Given the description of an element on the screen output the (x, y) to click on. 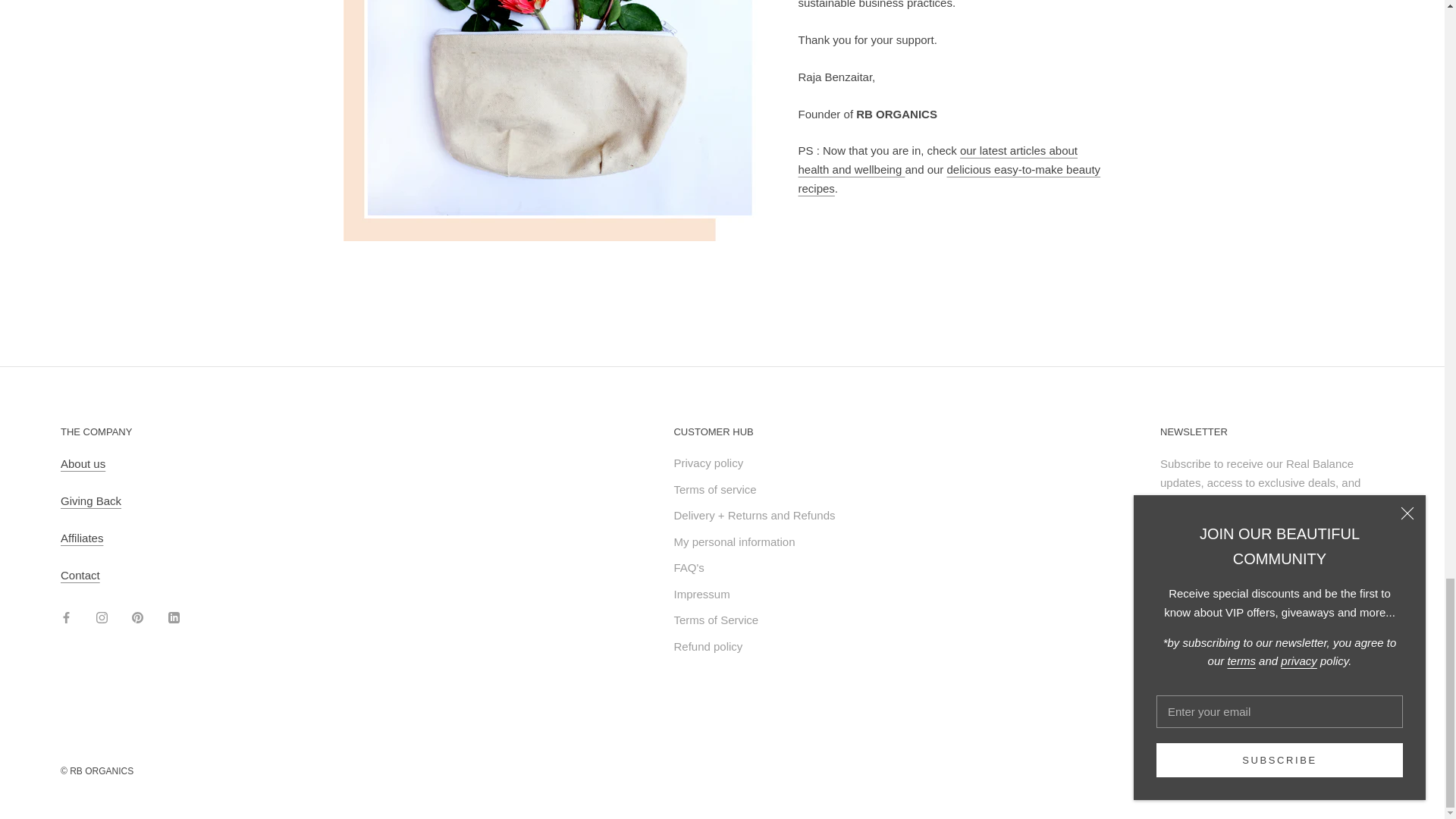
About us (82, 463)
PayPal (1369, 767)
delicious easy-to-make beauty recipes (948, 178)
our latest articles about health and wellbeing (937, 160)
Affiliates (82, 537)
Giving Back (90, 500)
